Given the description of an element on the screen output the (x, y) to click on. 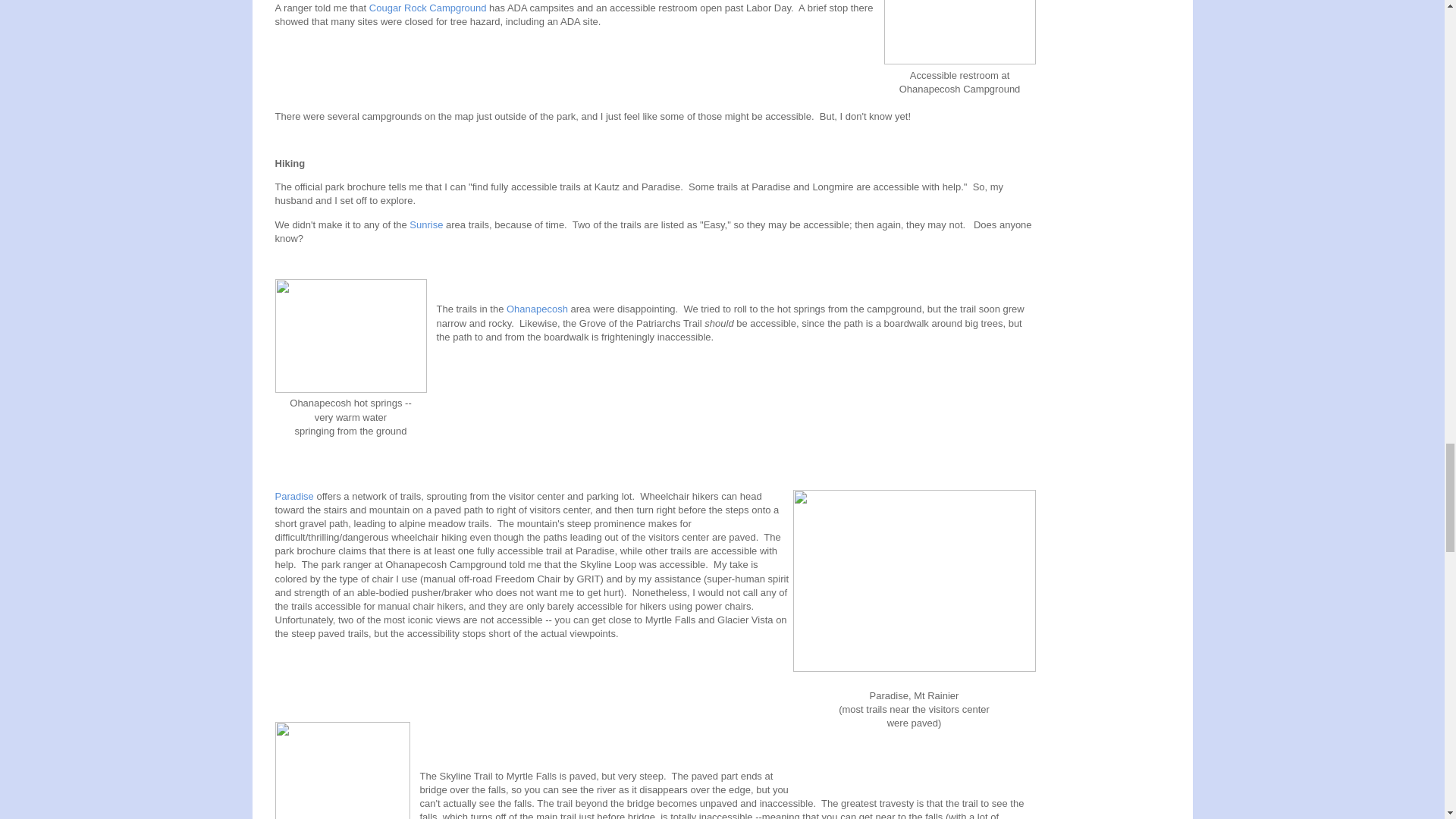
Paradise (294, 495)
Sunrise (425, 224)
Ohanapecosh (536, 308)
Cougar Rock Campground (427, 7)
